Given the description of an element on the screen output the (x, y) to click on. 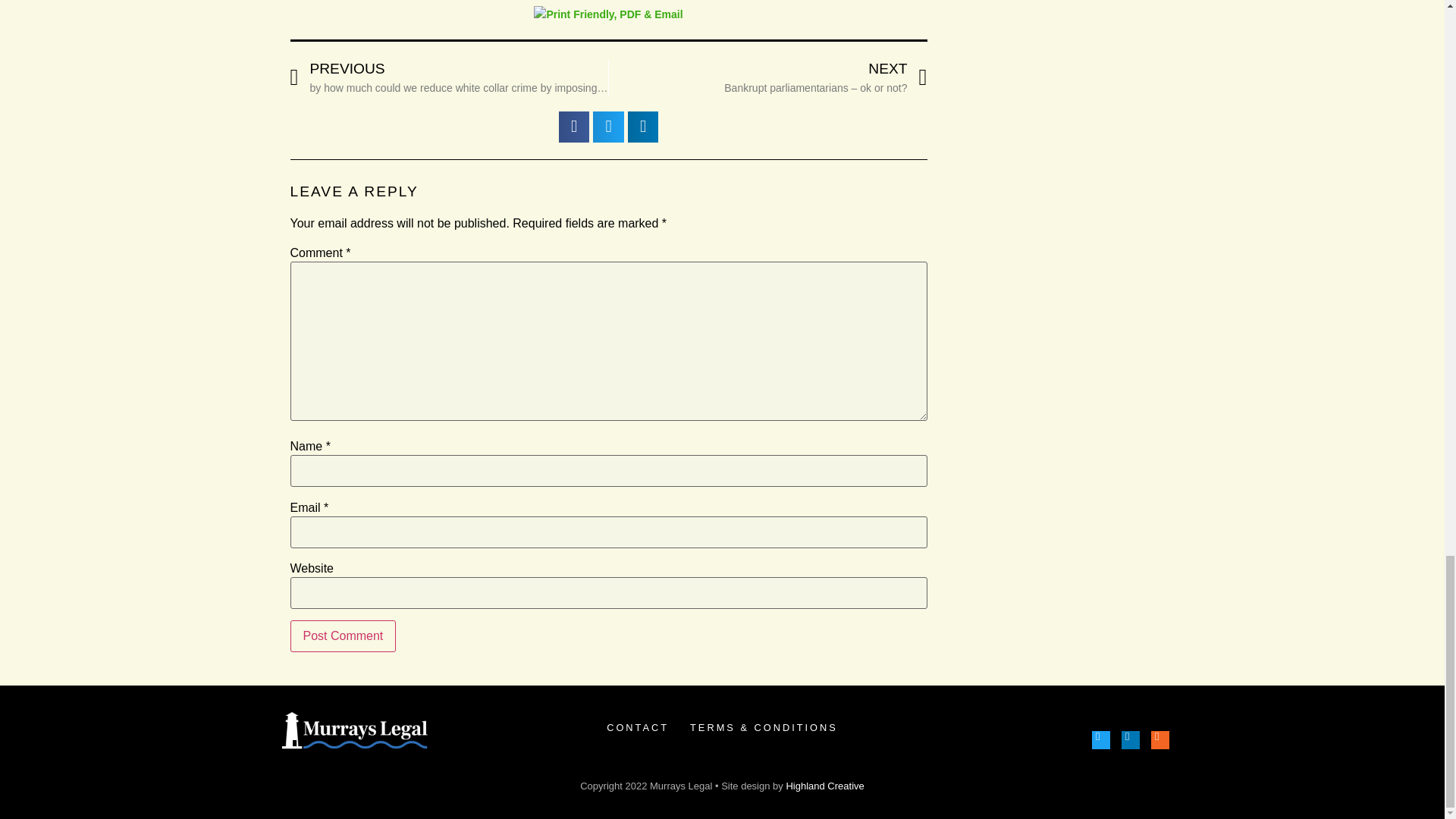
Highland Creative (824, 785)
Post Comment (342, 635)
Post Comment (342, 635)
